Given the description of an element on the screen output the (x, y) to click on. 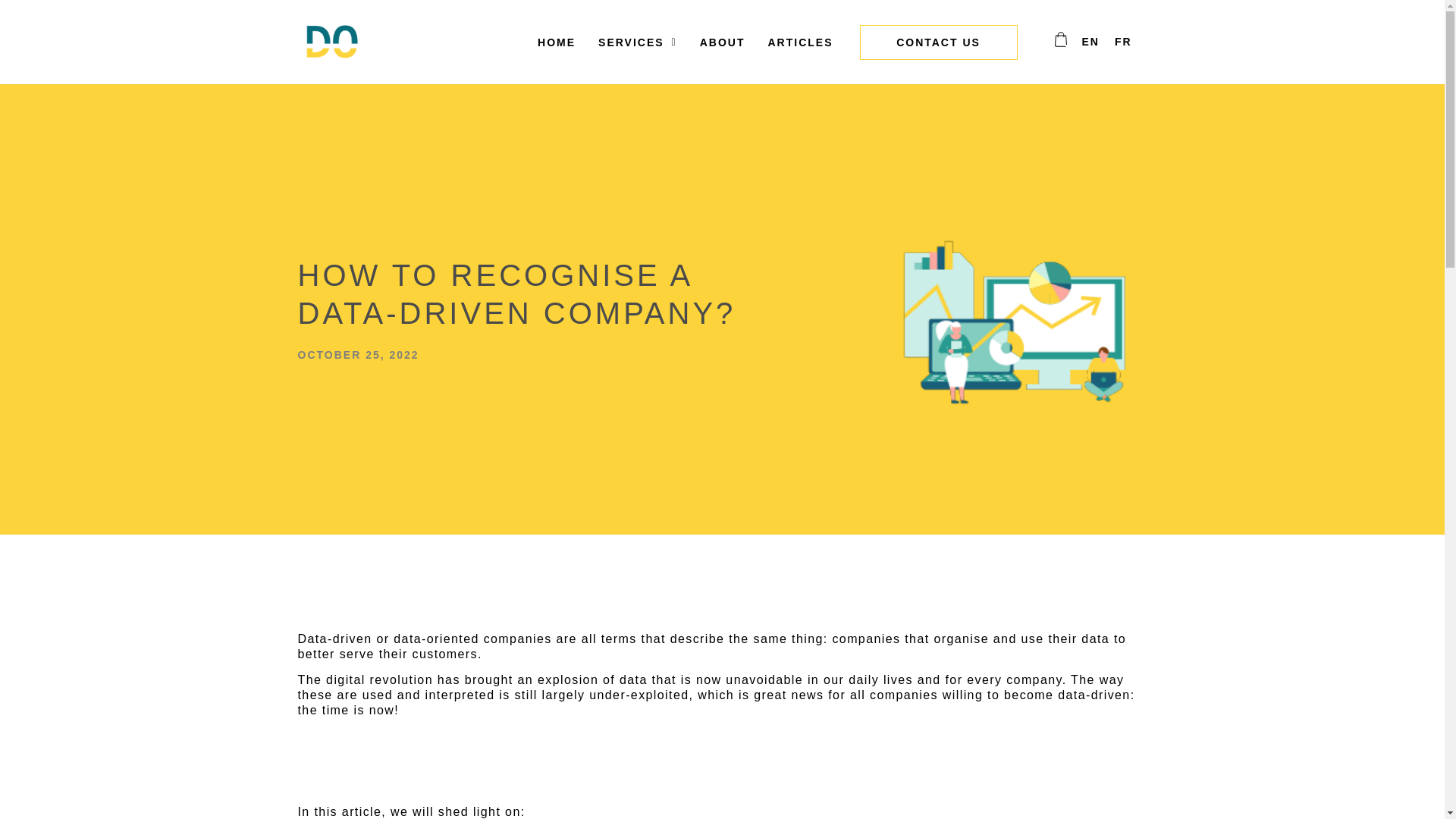
HOME (555, 42)
ABOUT (722, 42)
CONTACT US (938, 42)
EN (1090, 41)
SERVICES (637, 42)
FR (1123, 41)
ARTICLES (800, 42)
